Given the description of an element on the screen output the (x, y) to click on. 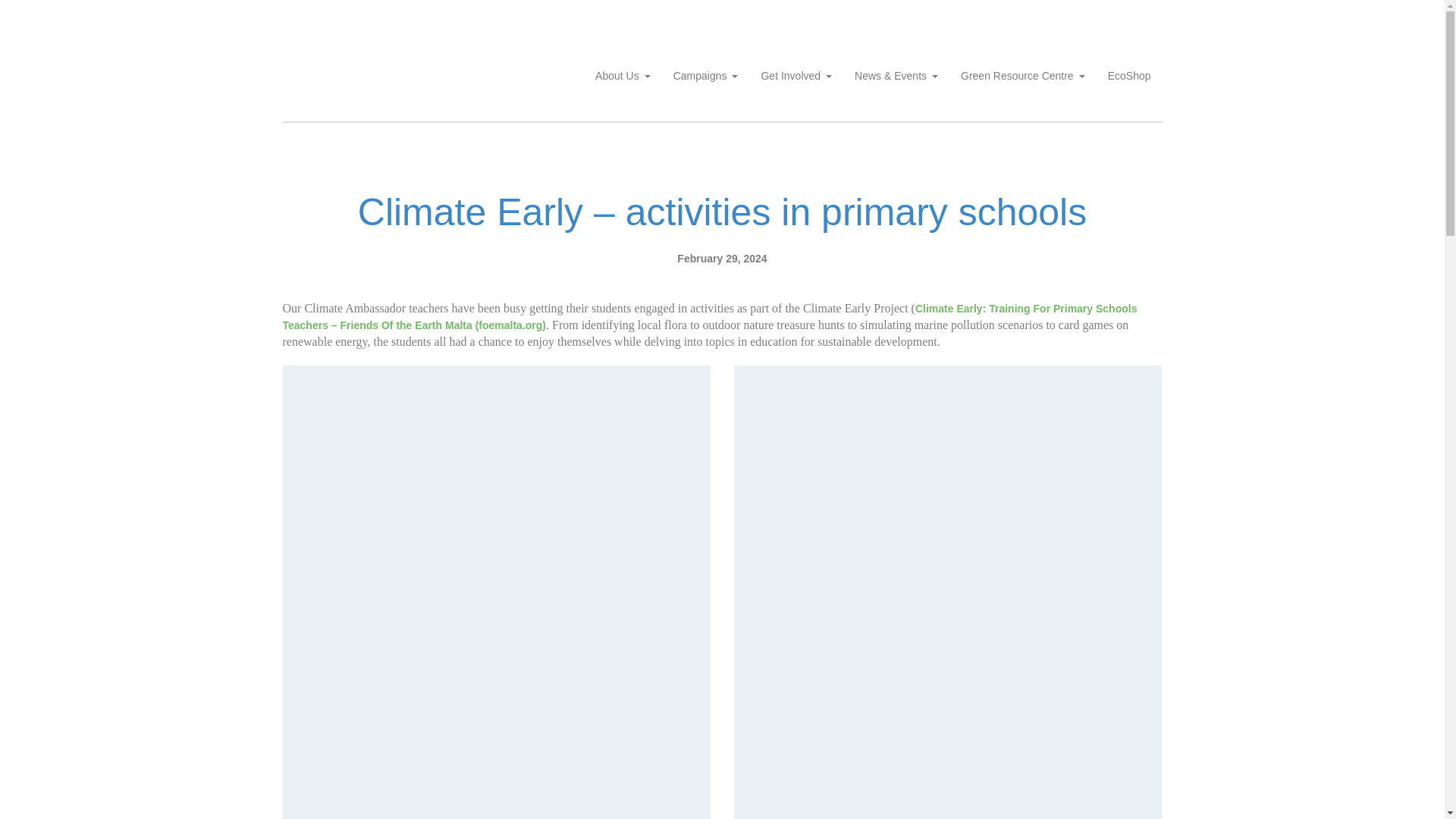
Get Involved (796, 75)
Campaigns (705, 75)
Green Resource Centre (1022, 75)
February 29, 2024 (722, 258)
About Us (622, 75)
